Given the description of an element on the screen output the (x, y) to click on. 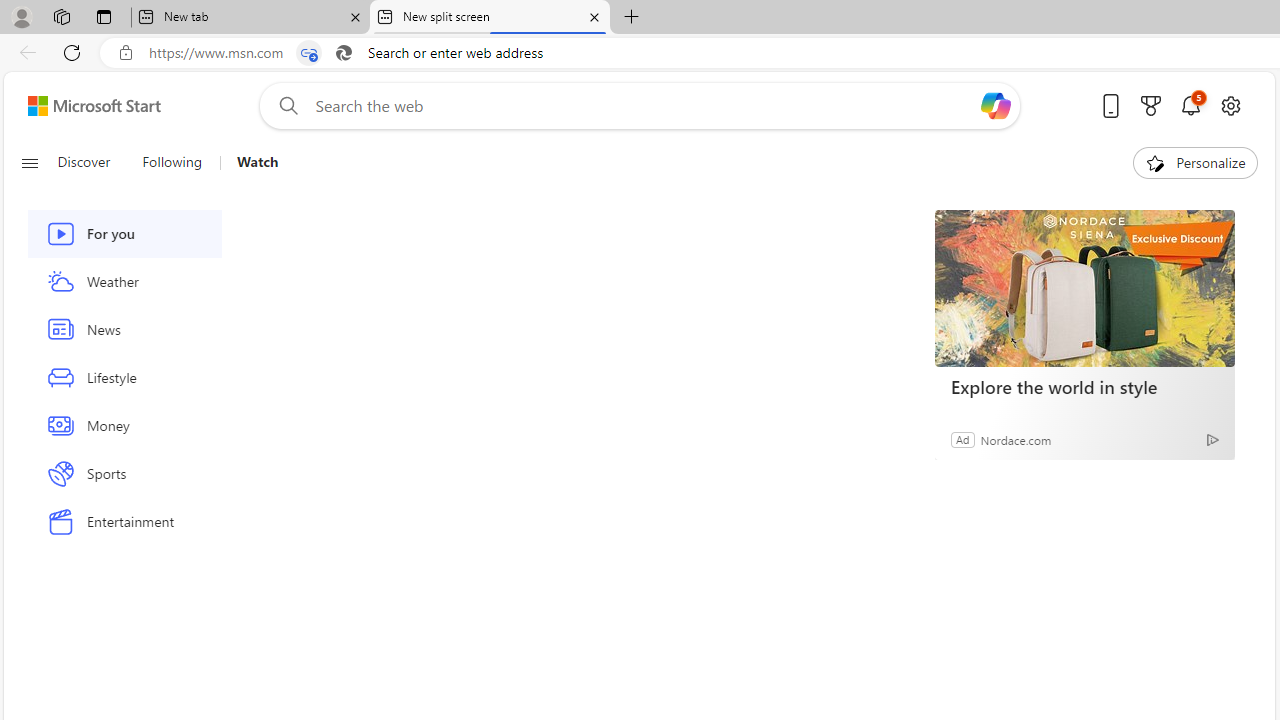
Explore the world in style (1084, 288)
Skip to content (86, 105)
To get missing image descriptions, open the context menu. (1155, 162)
Personalize (1195, 162)
Search icon (343, 53)
Tabs in split screen (308, 53)
